Given the description of an element on the screen output the (x, y) to click on. 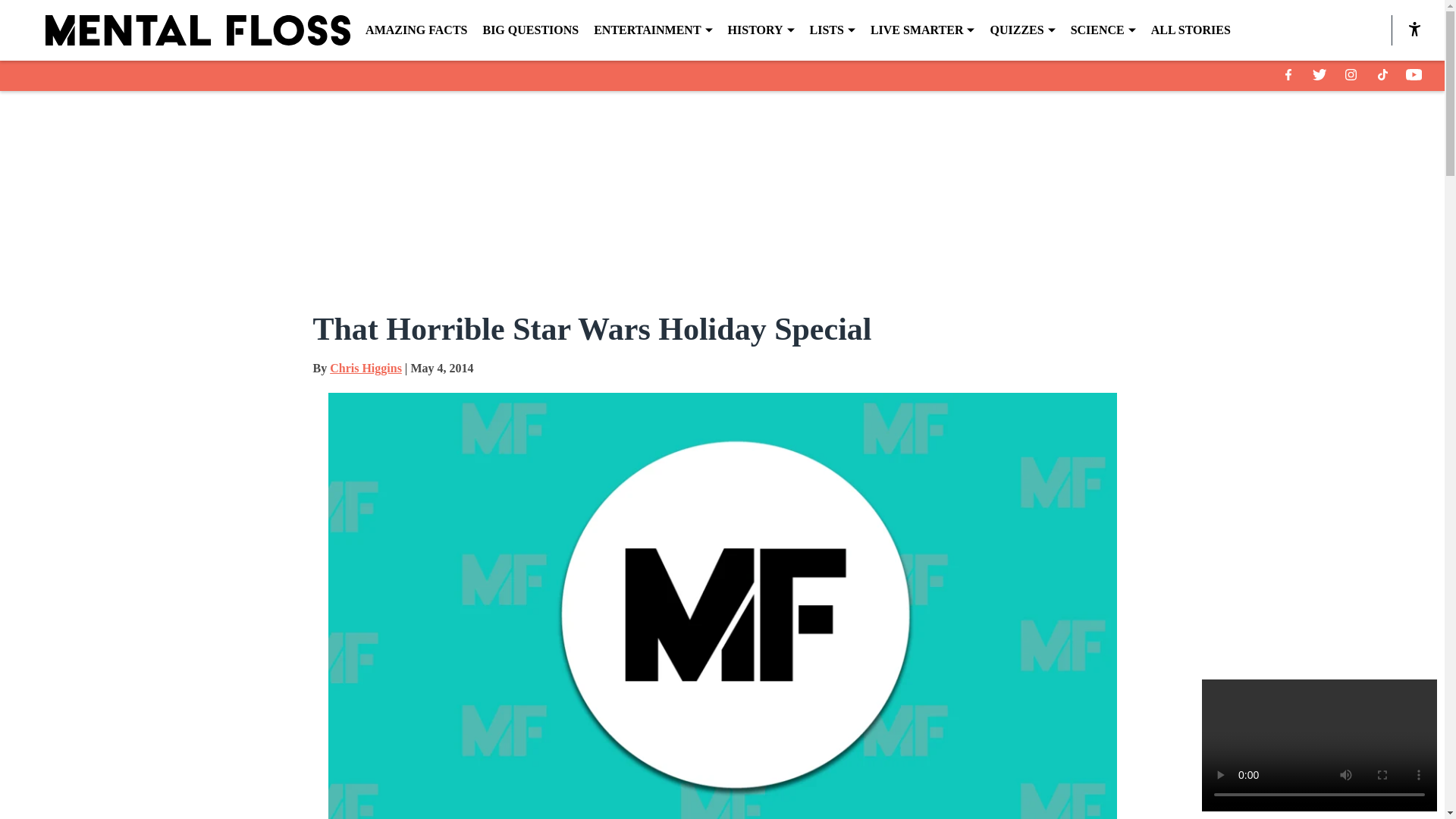
AMAZING FACTS (416, 30)
BIG QUESTIONS (529, 30)
ALL STORIES (1190, 30)
